Given the description of an element on the screen output the (x, y) to click on. 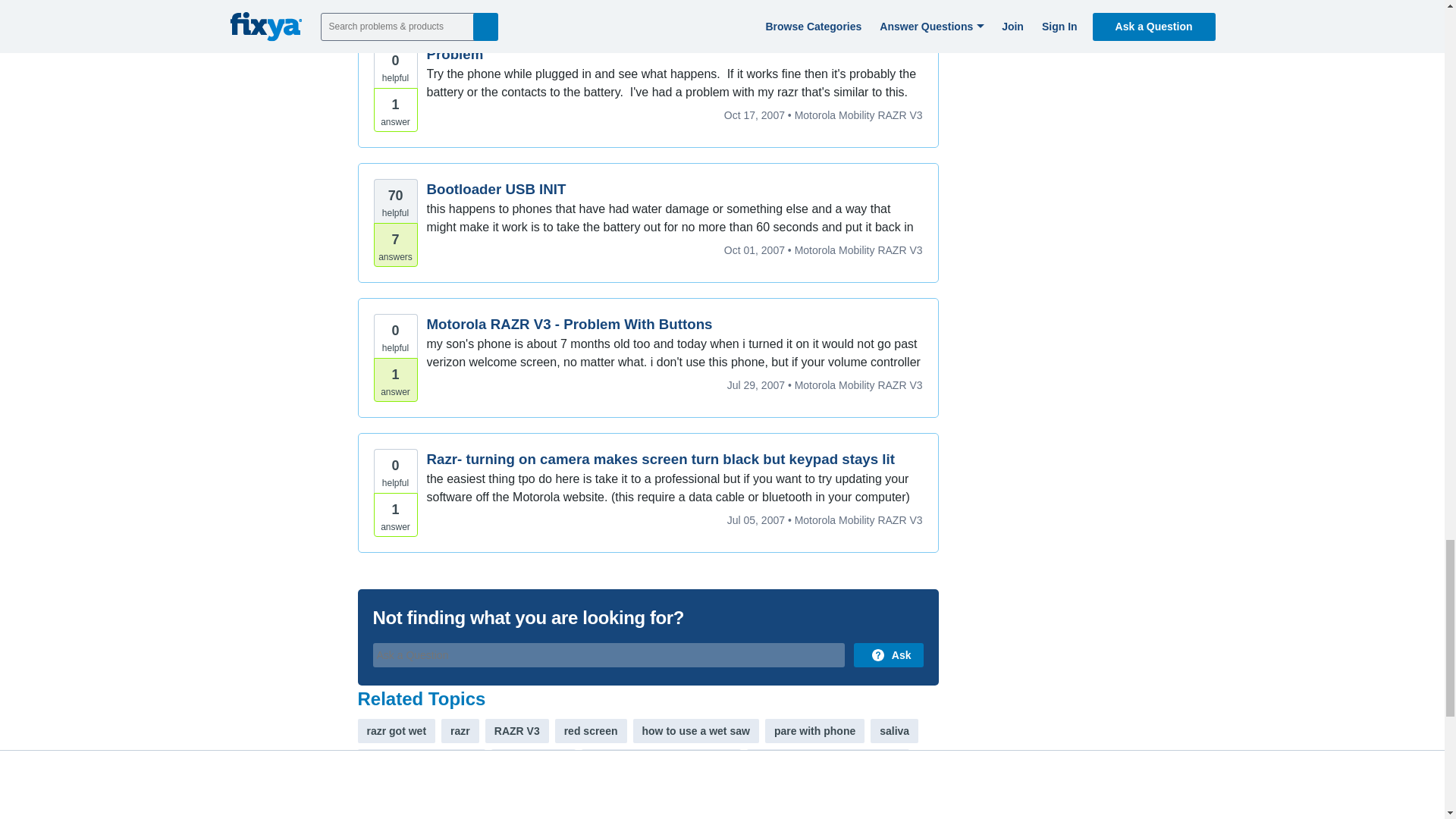
Ask (888, 654)
